Given the description of an element on the screen output the (x, y) to click on. 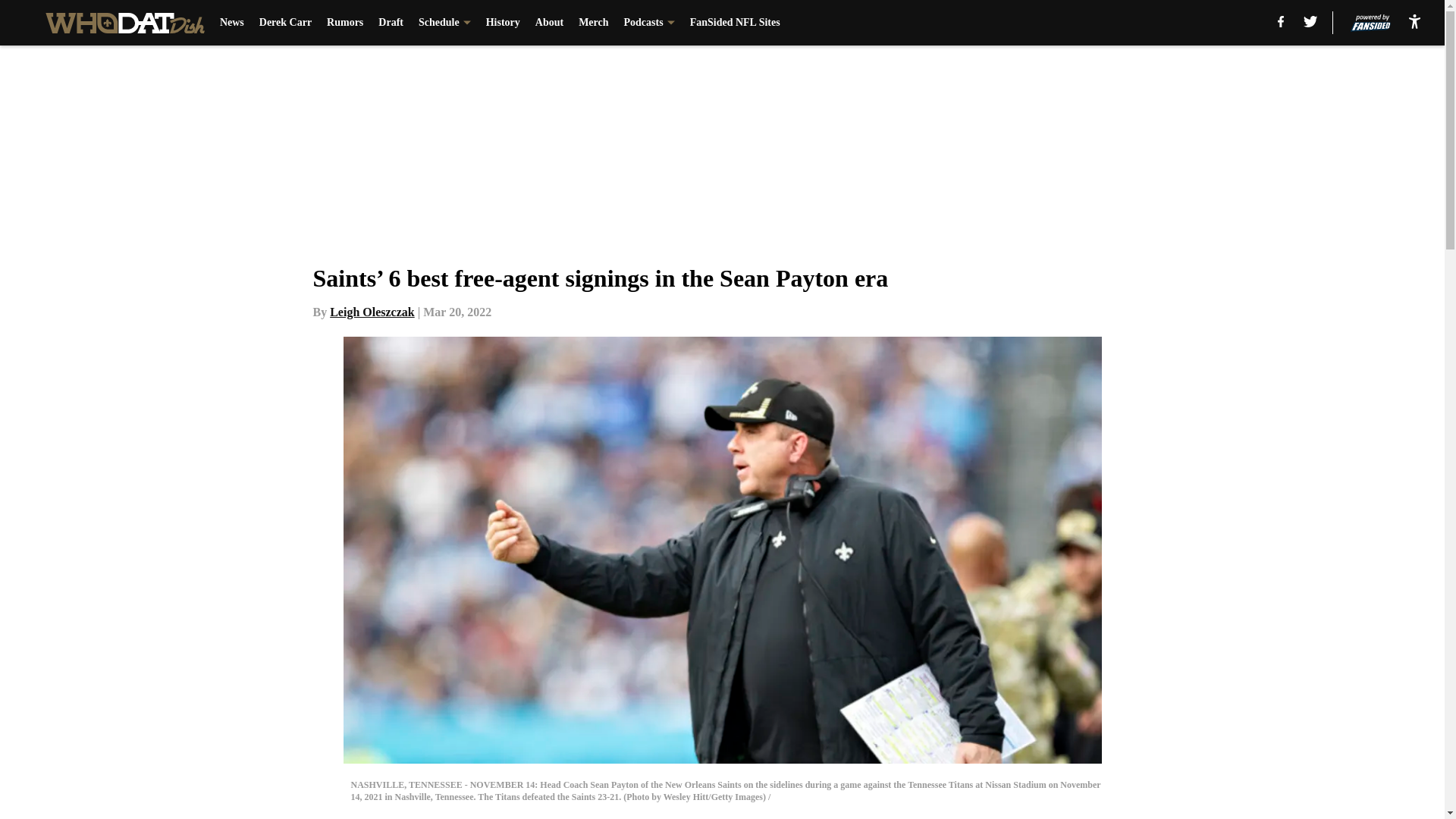
Derek Carr (285, 22)
News (231, 22)
FanSided NFL Sites (735, 22)
About (549, 22)
Rumors (344, 22)
History (502, 22)
Merch (593, 22)
Draft (390, 22)
Leigh Oleszczak (372, 311)
